Given the description of an element on the screen output the (x, y) to click on. 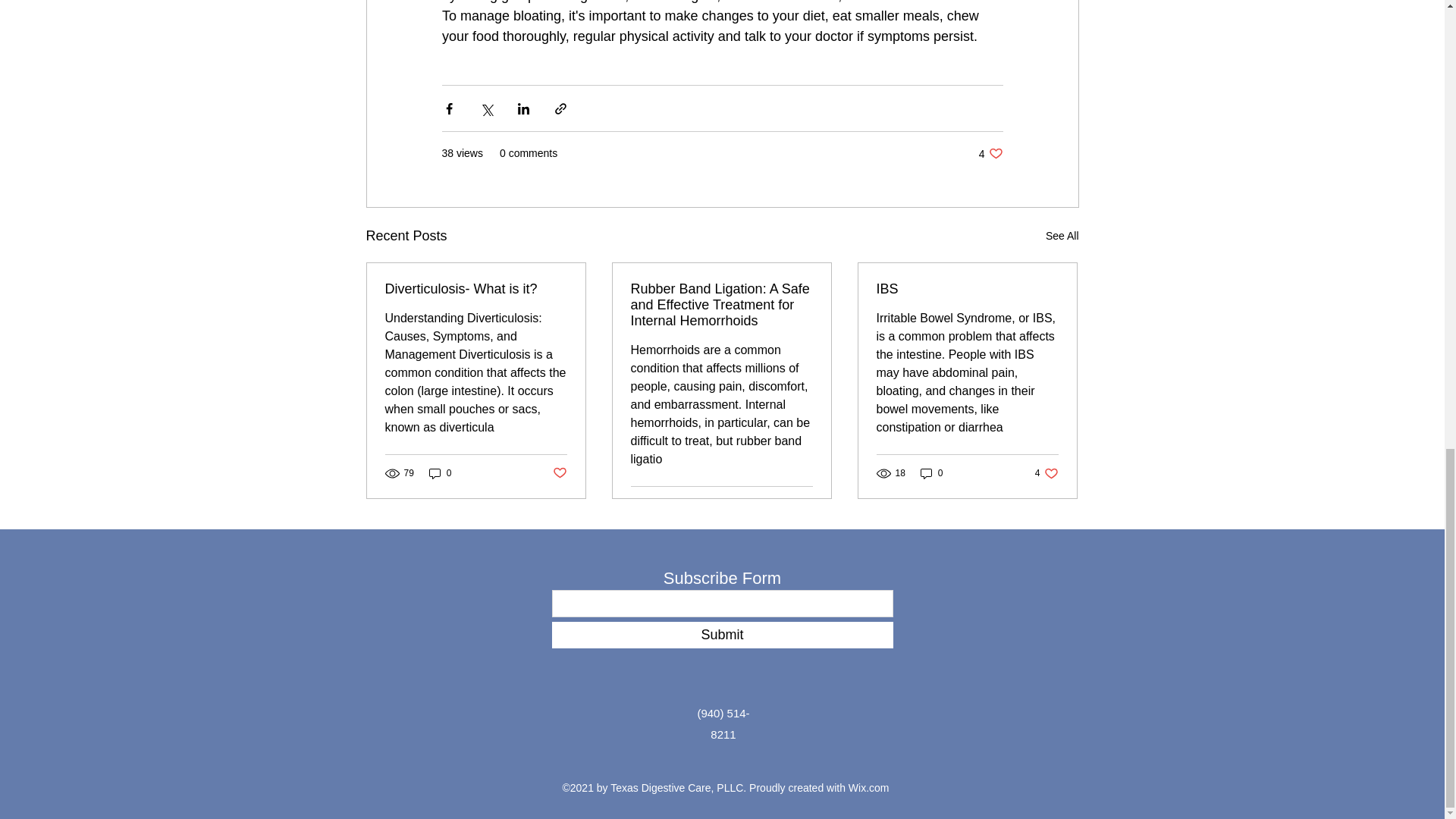
Diverticulosis- What is it? (476, 289)
Submit (990, 153)
0 (722, 634)
IBS (931, 473)
0 (1046, 473)
See All (967, 289)
Post not marked as liked (440, 473)
2 likes. Post not marked as liked (1061, 236)
